Given the description of an element on the screen output the (x, y) to click on. 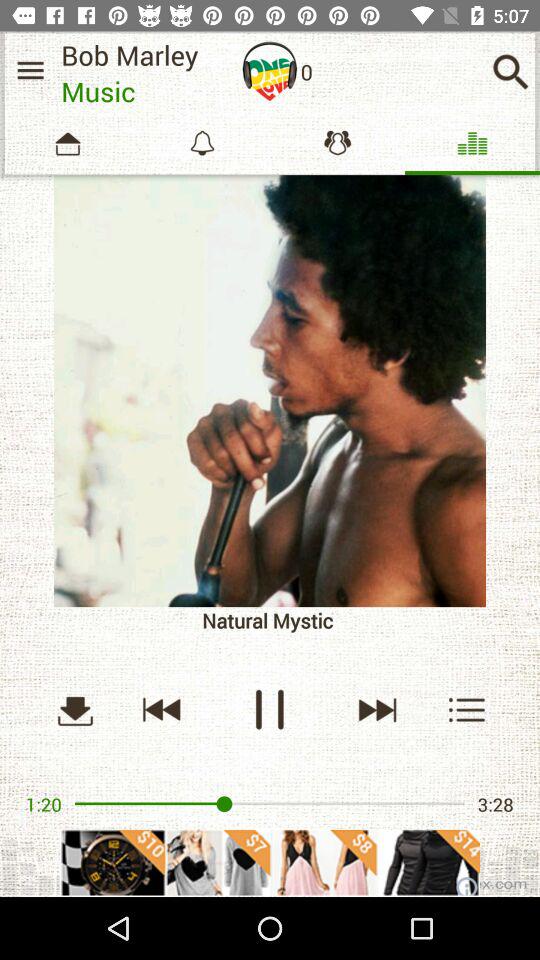
settings option (30, 69)
